Given the description of an element on the screen output the (x, y) to click on. 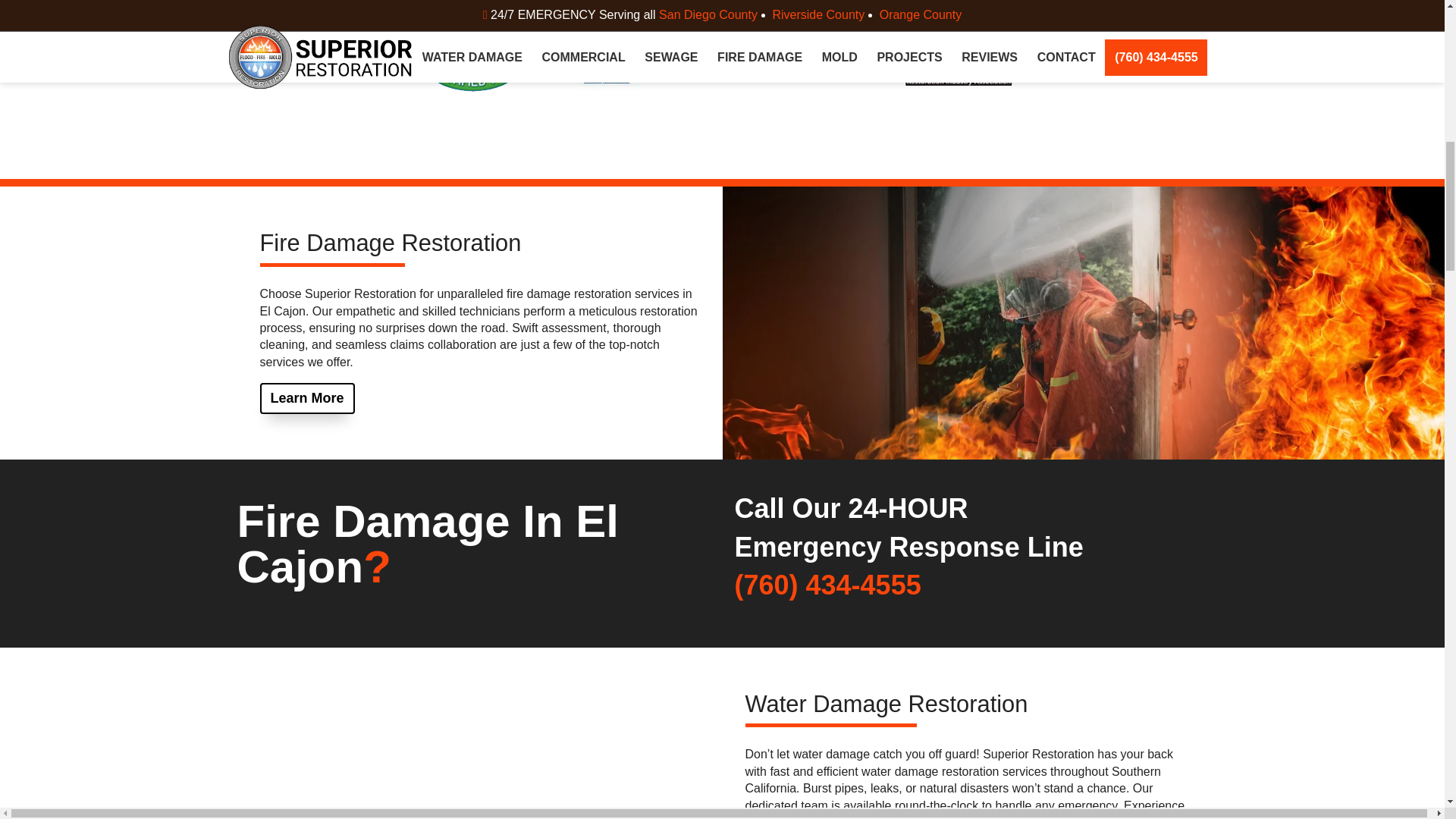
El Cajon, CA 6 (968, 56)
El Cajon, CA 2 (309, 56)
dki (804, 56)
Iicrc (309, 56)
El Cajon, CA 3 (473, 56)
lead safe (474, 56)
El Cajon, CA 4 (639, 56)
Learn More (306, 398)
El Cajon, CA 5 (804, 56)
ria (969, 56)
CSLB (639, 56)
